Given the description of an element on the screen output the (x, y) to click on. 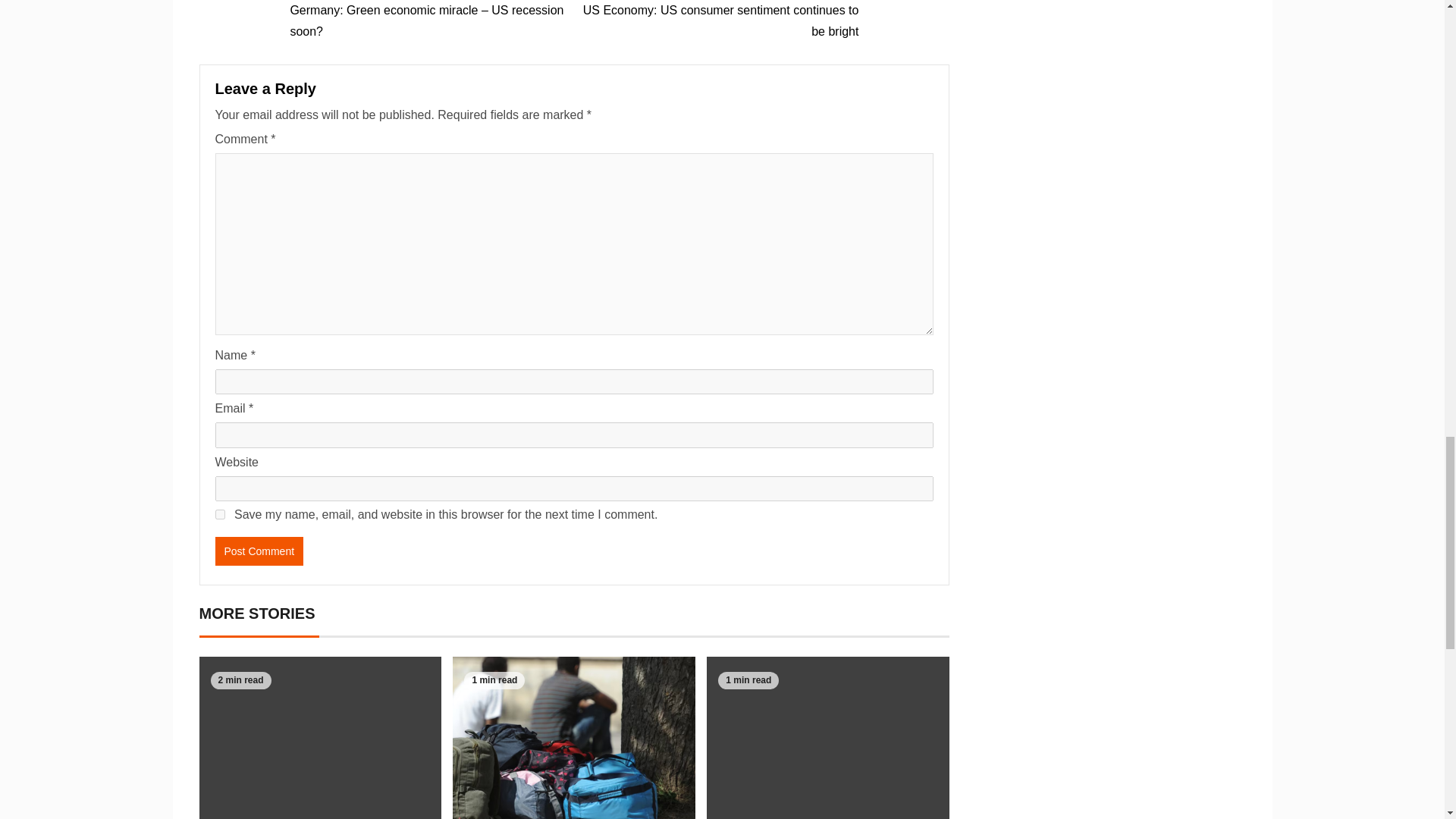
Post Comment (259, 551)
Post Comment (259, 551)
yes (220, 514)
